Given the description of an element on the screen output the (x, y) to click on. 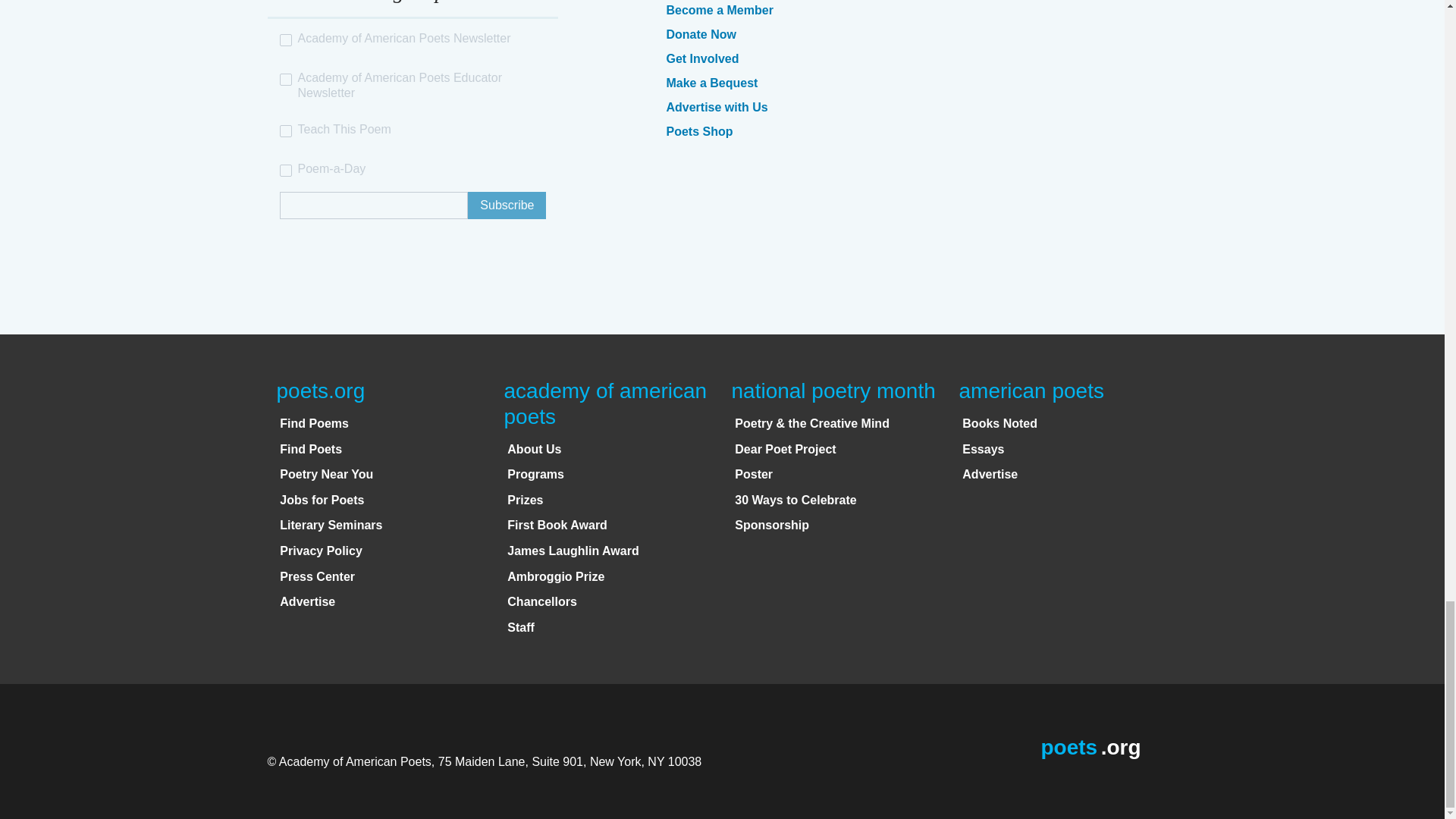
Literary Seminars (330, 524)
Subscribe (506, 205)
Privacy Policy (320, 550)
Poetry Near You (325, 473)
Jobs for Poets (321, 499)
